Given the description of an element on the screen output the (x, y) to click on. 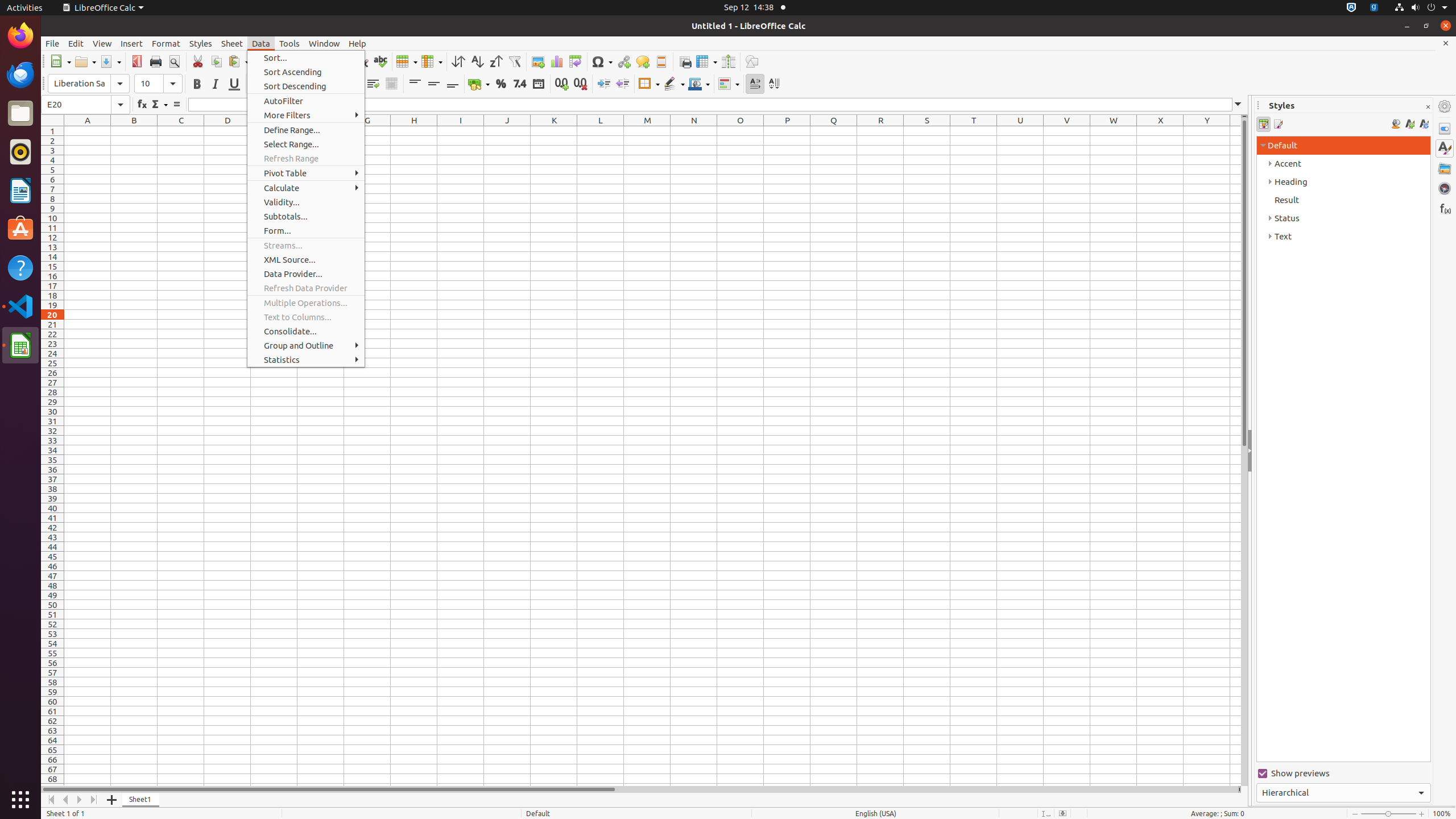
Move To Home Element type: push-button (51, 799)
File Element type: menu (51, 43)
R1 Element type: table-cell (880, 130)
W1 Element type: table-cell (1113, 130)
Text to Columns... Element type: menu-item (305, 316)
